Given the description of an element on the screen output the (x, y) to click on. 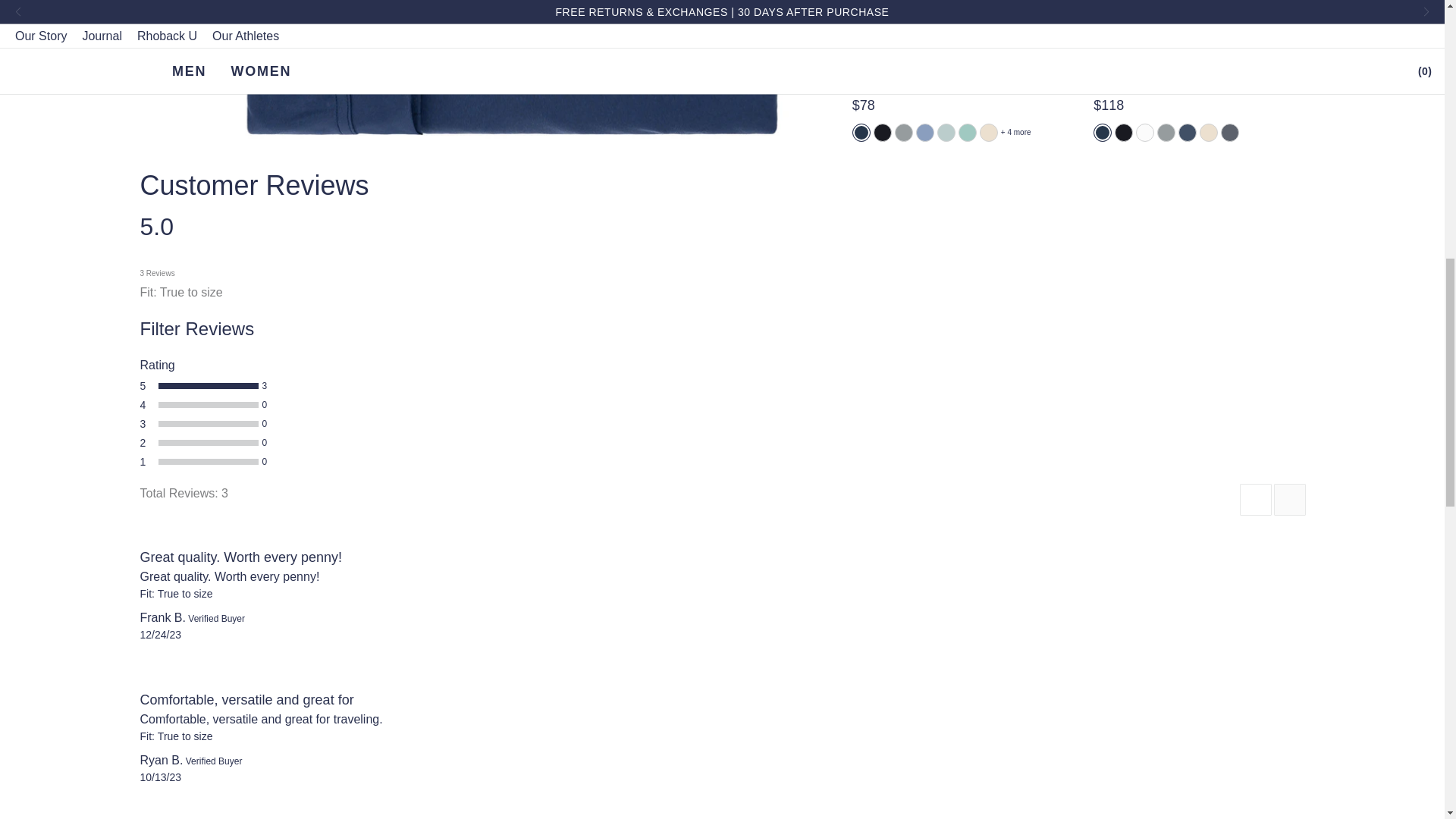
Everyday Short (949, 56)
